Given the description of an element on the screen output the (x, y) to click on. 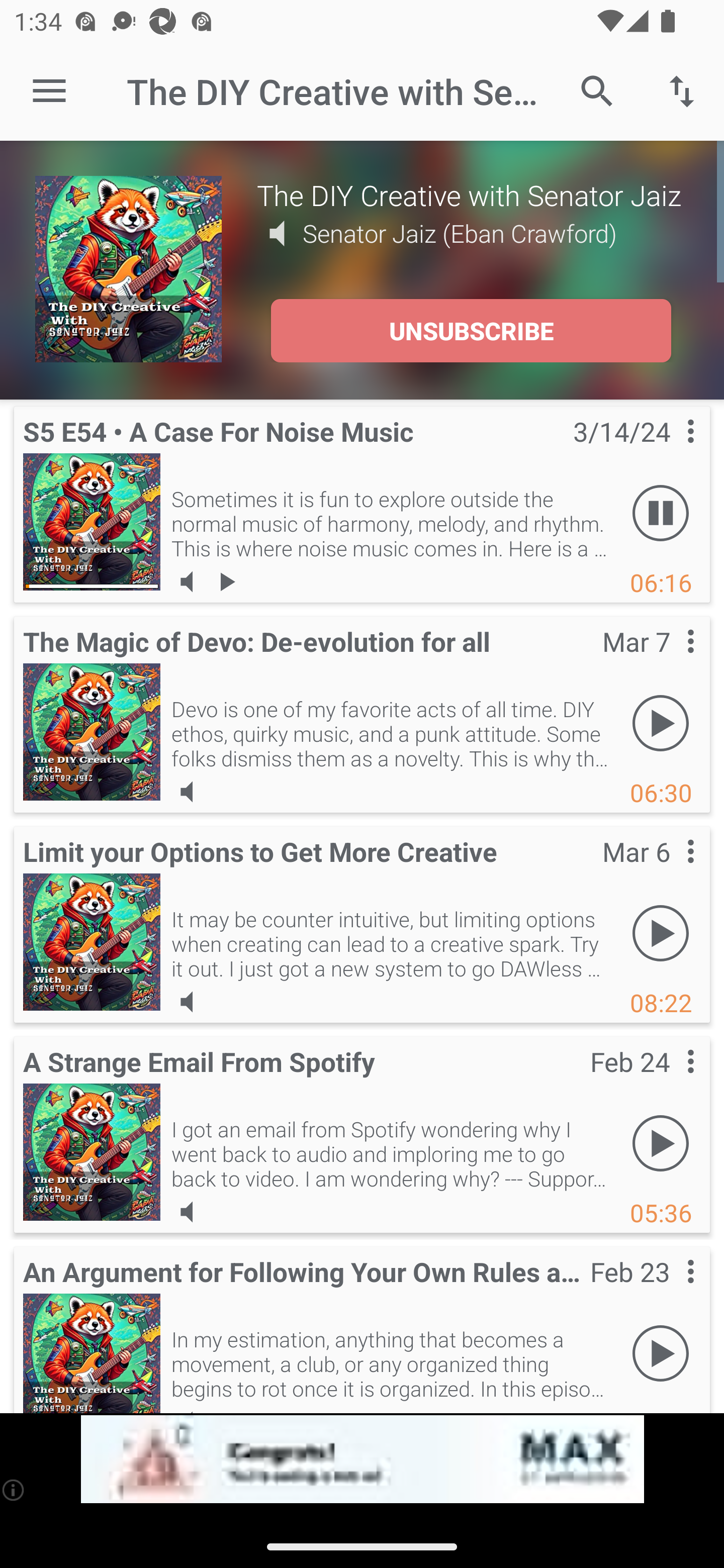
Open navigation sidebar (49, 91)
Search (597, 90)
Sort (681, 90)
UNSUBSCRIBE (470, 330)
Contextual menu (668, 451)
Pause (660, 513)
Contextual menu (668, 661)
Play (660, 723)
Contextual menu (668, 870)
Play (660, 933)
Contextual menu (668, 1080)
Play (660, 1143)
Contextual menu (668, 1290)
Play (660, 1353)
app-monetization (362, 1459)
(i) (14, 1489)
